Given the description of an element on the screen output the (x, y) to click on. 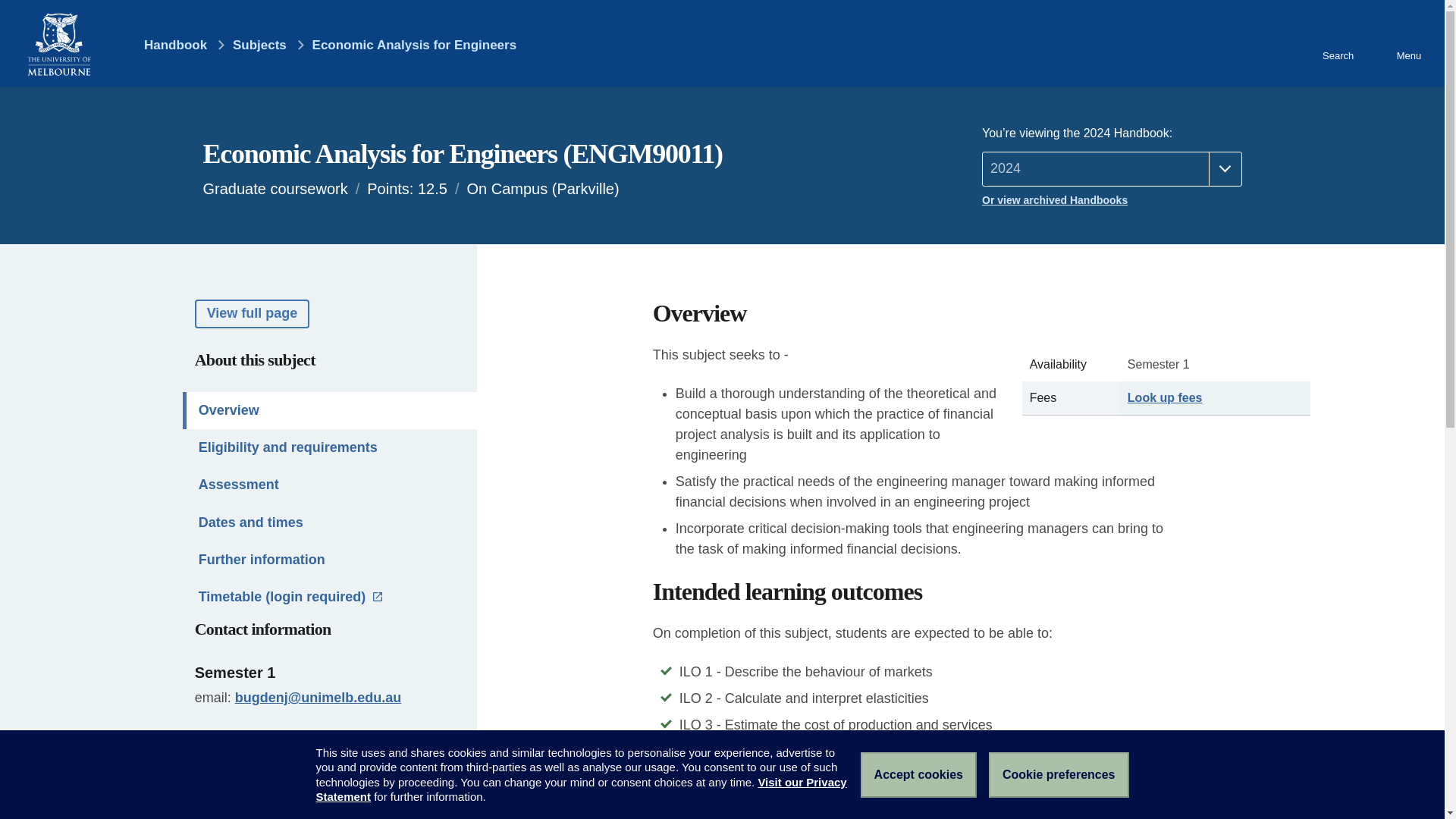
Subjects (259, 44)
Dates and times (330, 522)
Handbook (165, 44)
Overview (330, 410)
Menu (1408, 43)
Economic Analysis for Engineers (414, 44)
Search (1337, 43)
Assessment (330, 484)
Eligibility and requirements (330, 447)
Or view archived Handbooks (1111, 200)
Search (1337, 43)
Menu (1408, 43)
View full page (252, 313)
Look up fees (1164, 397)
Further information (330, 559)
